Given the description of an element on the screen output the (x, y) to click on. 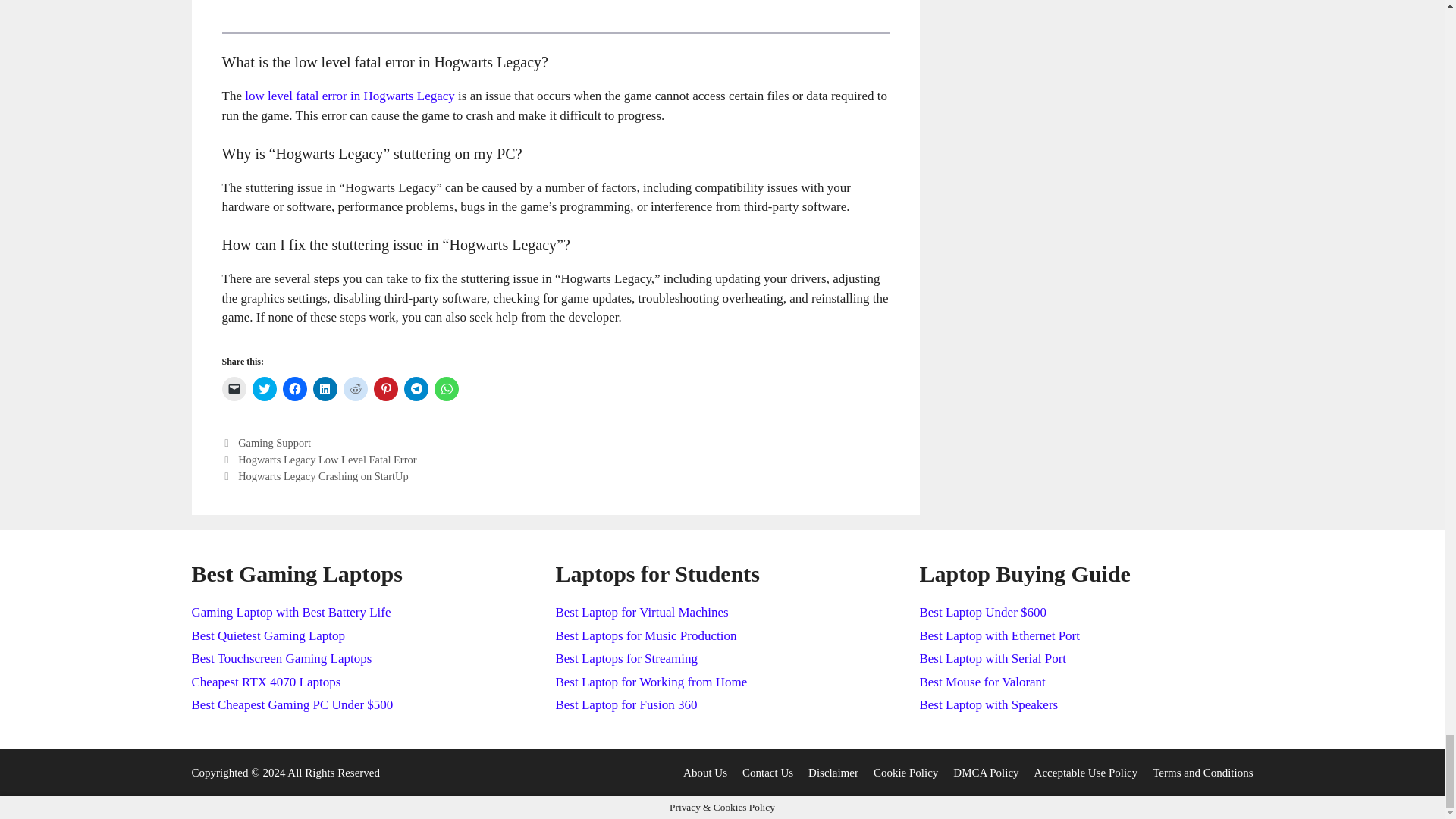
low level fatal error in Hogwarts Legacy (347, 95)
